Given the description of an element on the screen output the (x, y) to click on. 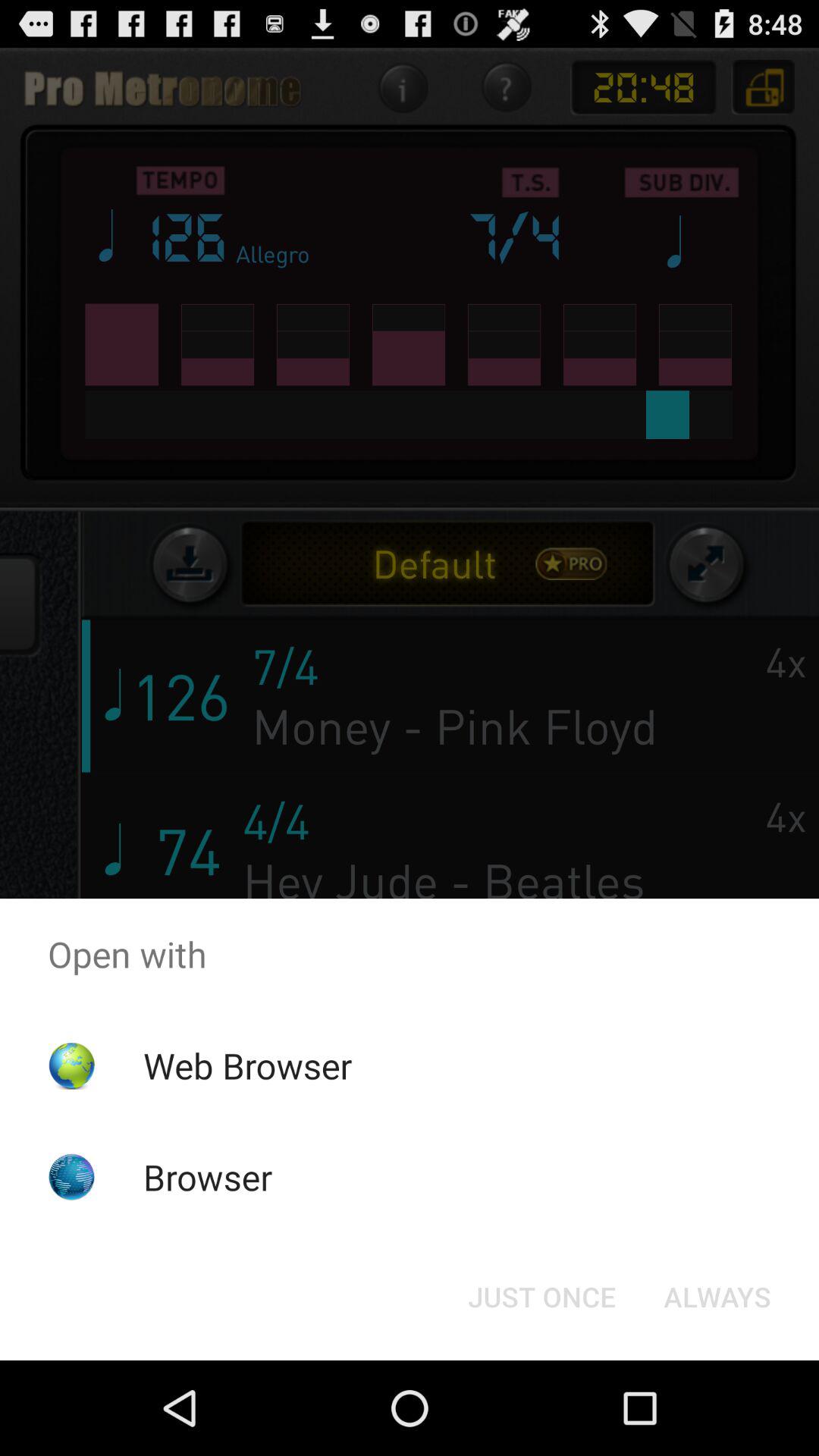
turn on the app below the open with item (717, 1296)
